Given the description of an element on the screen output the (x, y) to click on. 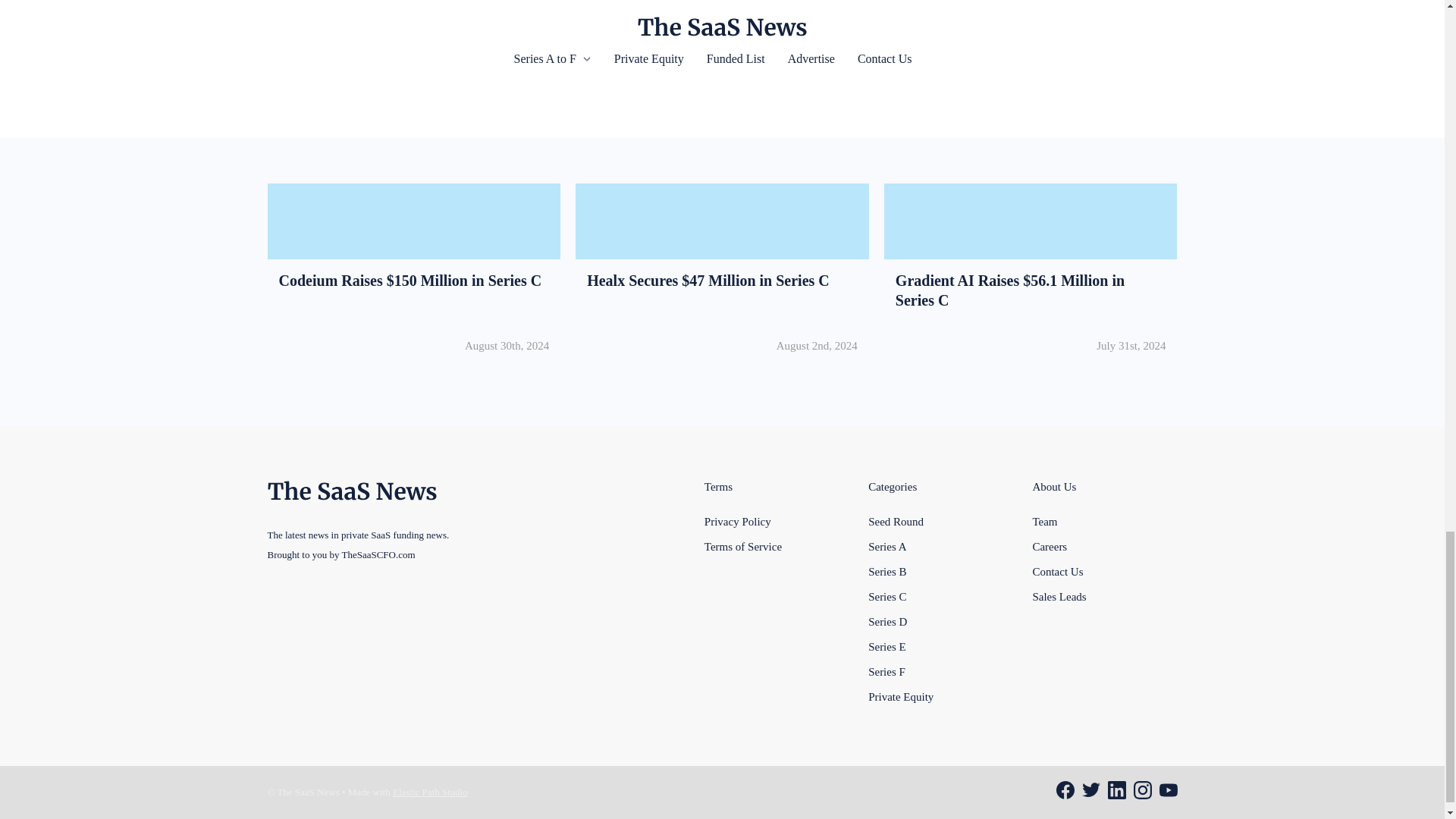
Series F (886, 671)
Series D (887, 621)
Privacy Policy (737, 521)
Series E (886, 646)
Series C (886, 596)
Team (1044, 521)
Terms of Service (742, 546)
Series A (886, 546)
Contact Us (1057, 571)
Private Equity (900, 696)
